Given the description of an element on the screen output the (x, y) to click on. 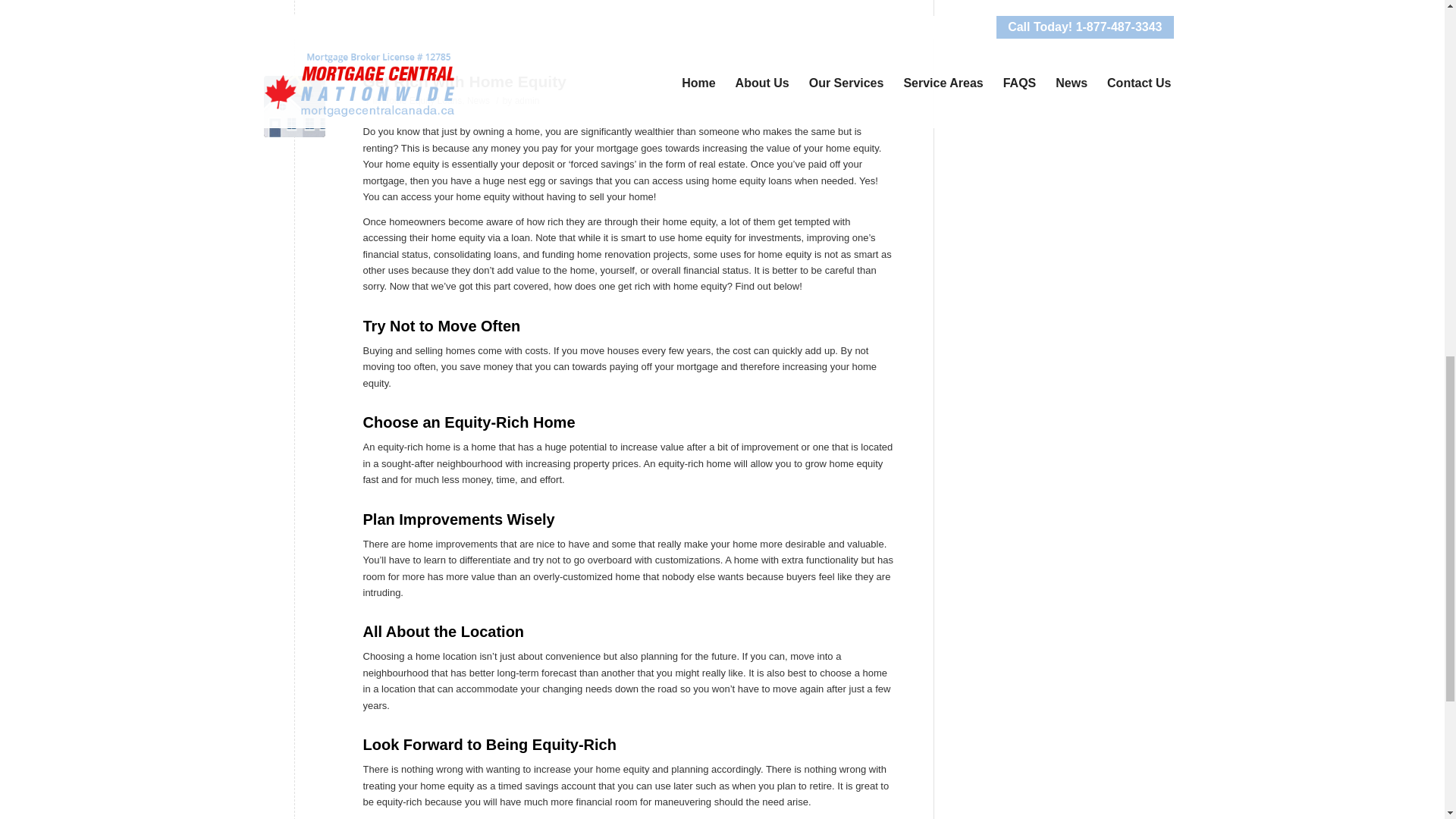
Get Rich with Home Equity (293, 106)
Posts by admin (527, 100)
Permanent Link: Get Rich with Home Equity (464, 81)
